Given the description of an element on the screen output the (x, y) to click on. 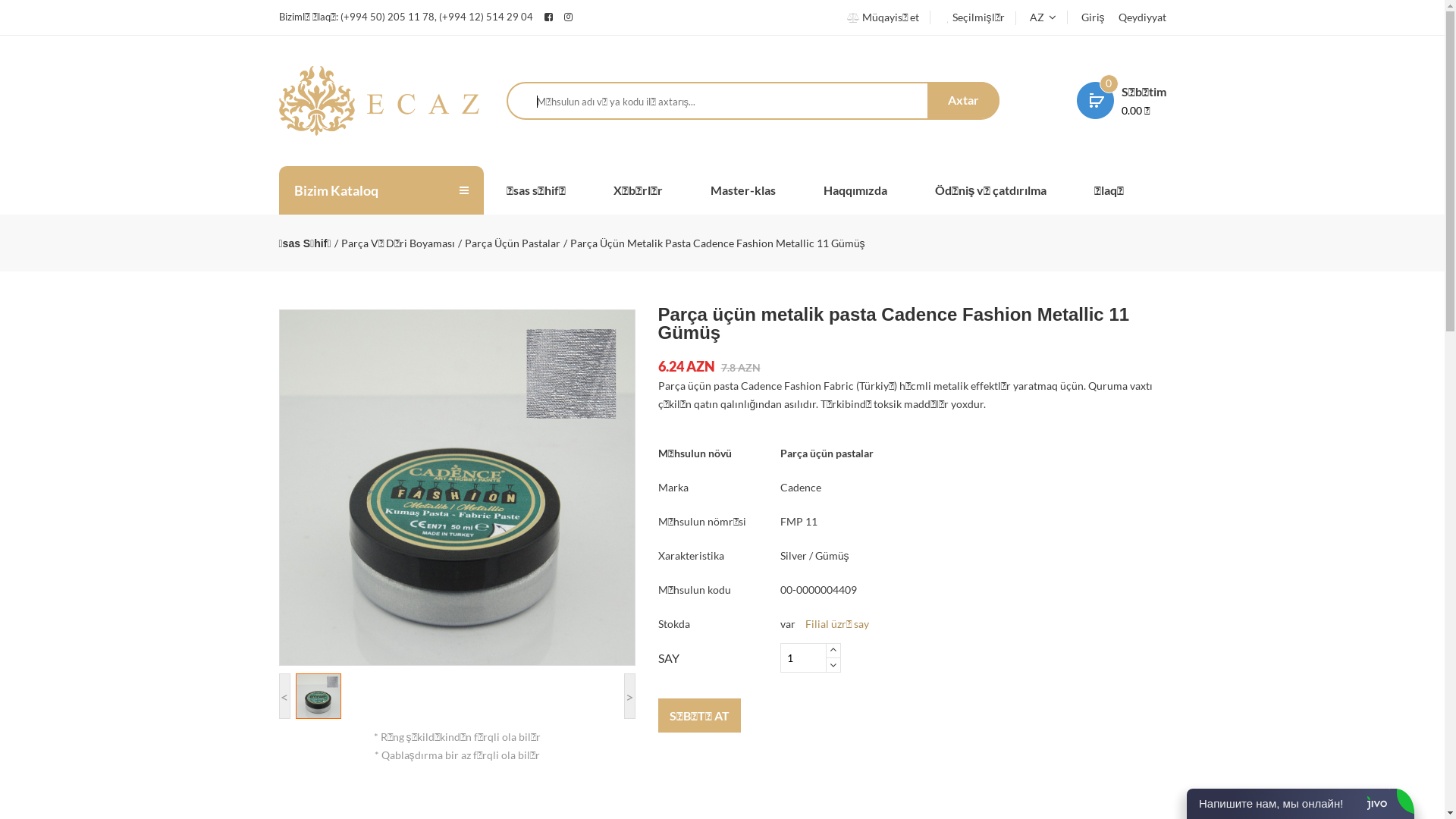
Bizim Kataloq Element type: text (372, 190)
Cadence Element type: text (799, 486)
> Element type: text (628, 695)
Master-klas Element type: text (764, 190)
AZ Element type: text (1041, 17)
< Element type: text (284, 695)
facebook Element type: hover (548, 16)
instagram Element type: hover (605, 16)
Qeydiyyat Element type: text (1136, 17)
Axtar Element type: text (962, 99)
